Given the description of an element on the screen output the (x, y) to click on. 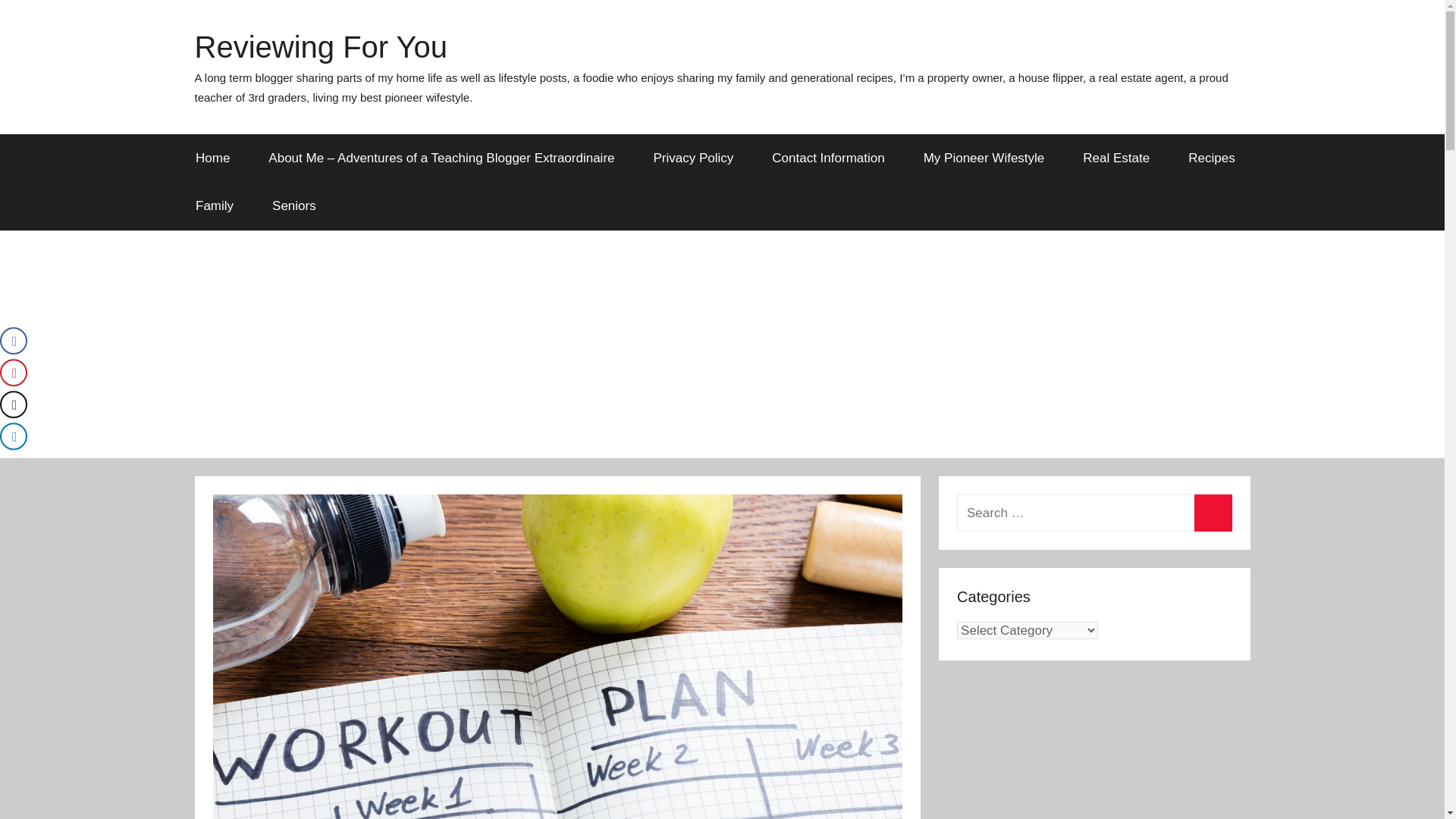
Recipes (1211, 157)
Reviewing For You (319, 46)
Contact Information (828, 157)
Real Estate (1116, 157)
Home (212, 157)
My Pioneer Wifestyle (984, 157)
Privacy Policy (692, 157)
Search for: (1093, 512)
Advertisement (1094, 748)
Seniors (294, 205)
